Given the description of an element on the screen output the (x, y) to click on. 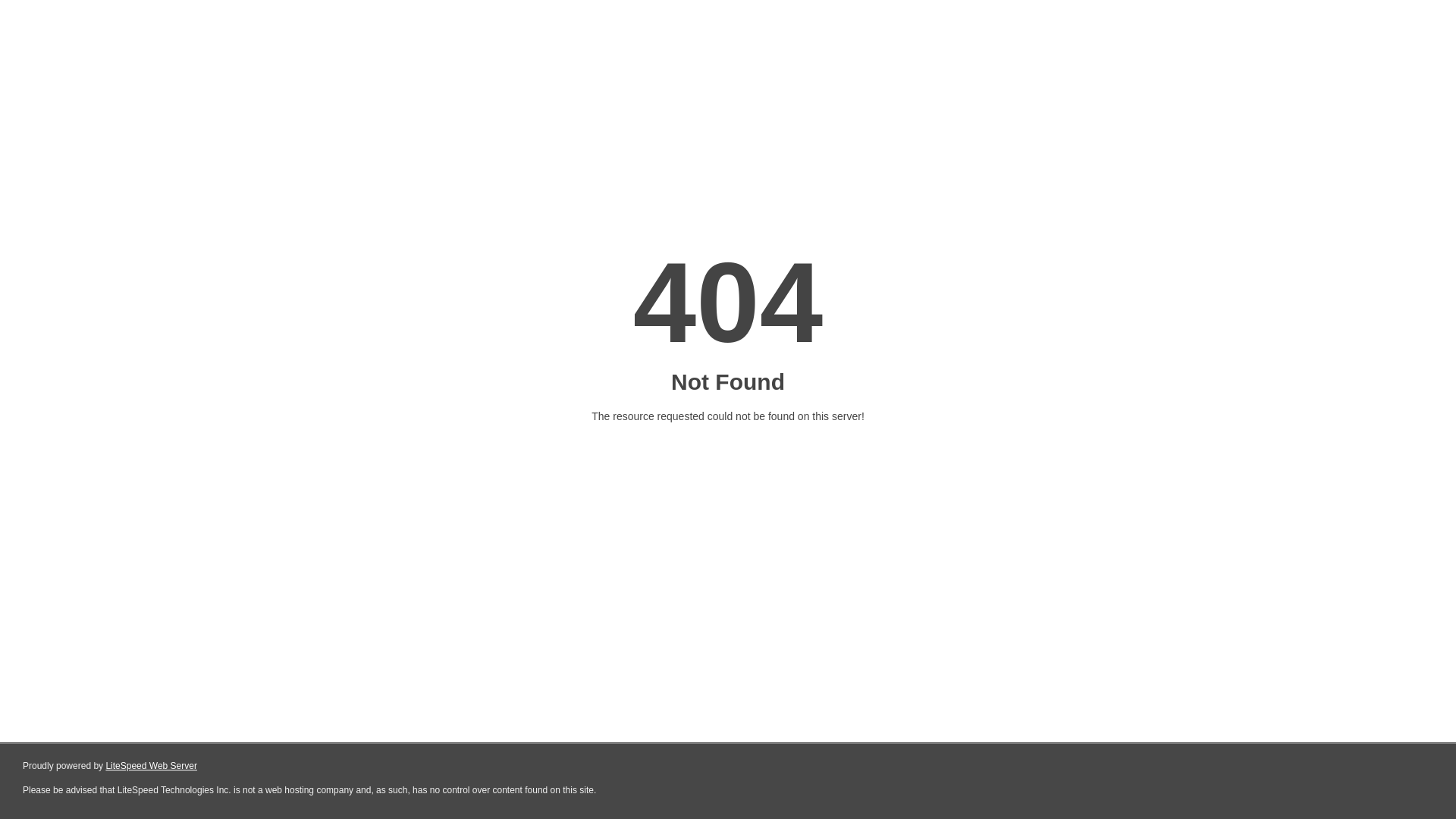
LiteSpeed Web Server Element type: text (151, 765)
